Given the description of an element on the screen output the (x, y) to click on. 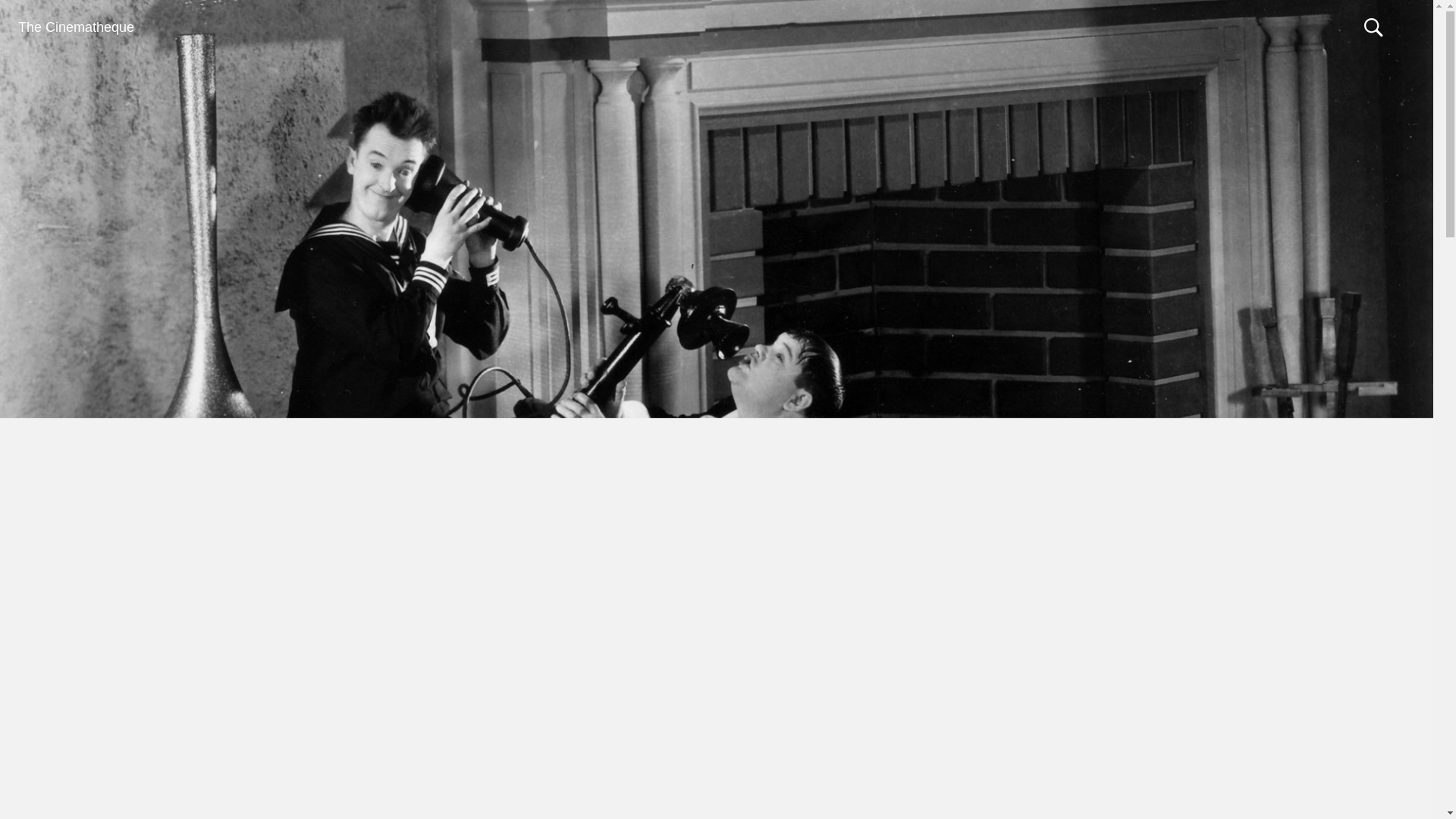
The Cinematheque (75, 27)
Search (1373, 27)
Cart (1337, 27)
Nav (1405, 27)
